Given the description of an element on the screen output the (x, y) to click on. 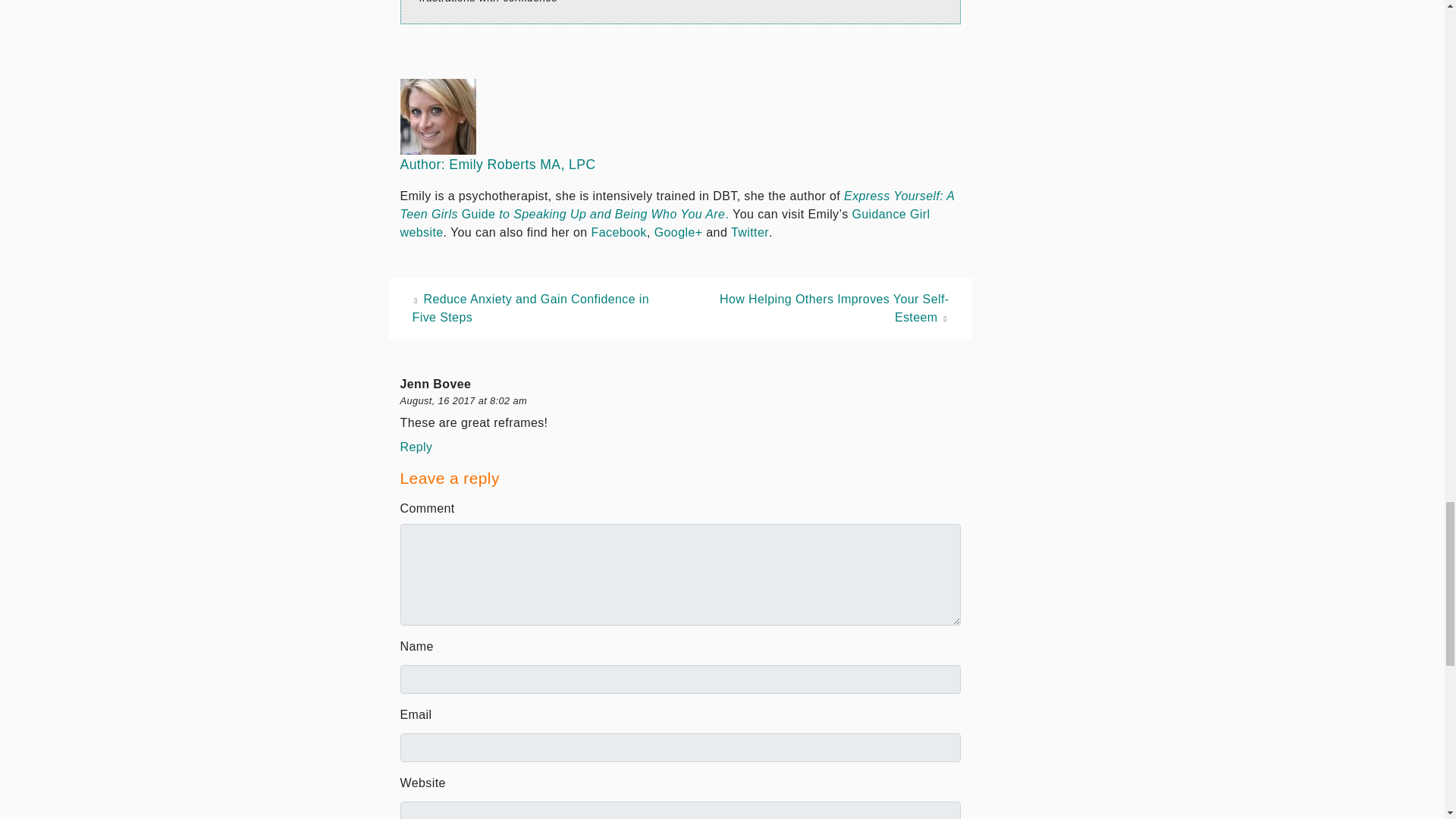
Express Yourself (677, 204)
